Given the description of an element on the screen output the (x, y) to click on. 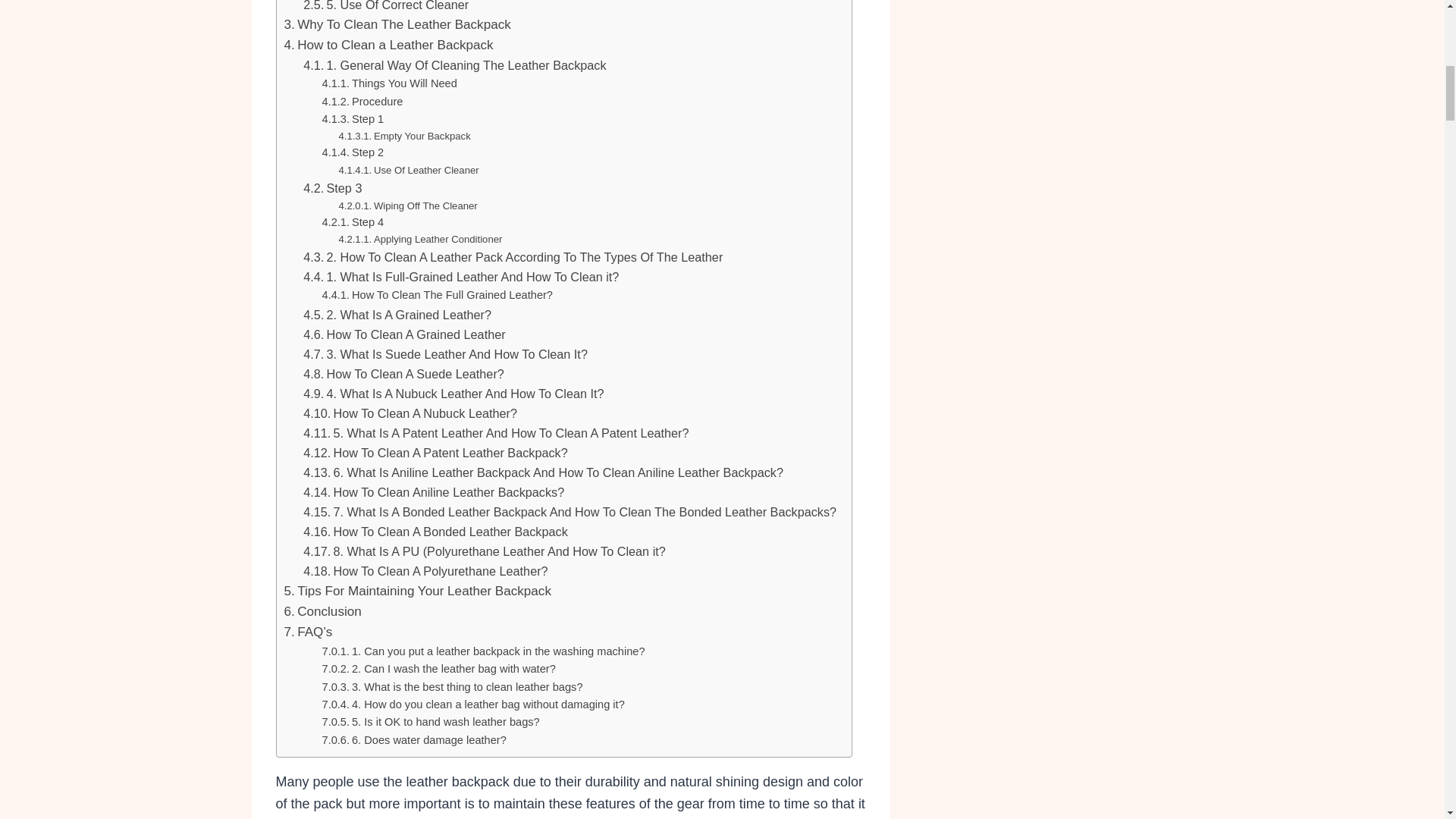
Use Of Leather Cleaner (408, 170)
How to Clean a Leather Backpack (388, 45)
2. What Is A Grained Leather? (397, 314)
Step 4 (352, 221)
5. Use Of Correct Cleaner (385, 7)
1. What Is Full-Grained Leather And How To Clean it? (460, 276)
1. General Way Of Cleaning The Leather Backpack (453, 65)
Procedure (362, 101)
